Given the description of an element on the screen output the (x, y) to click on. 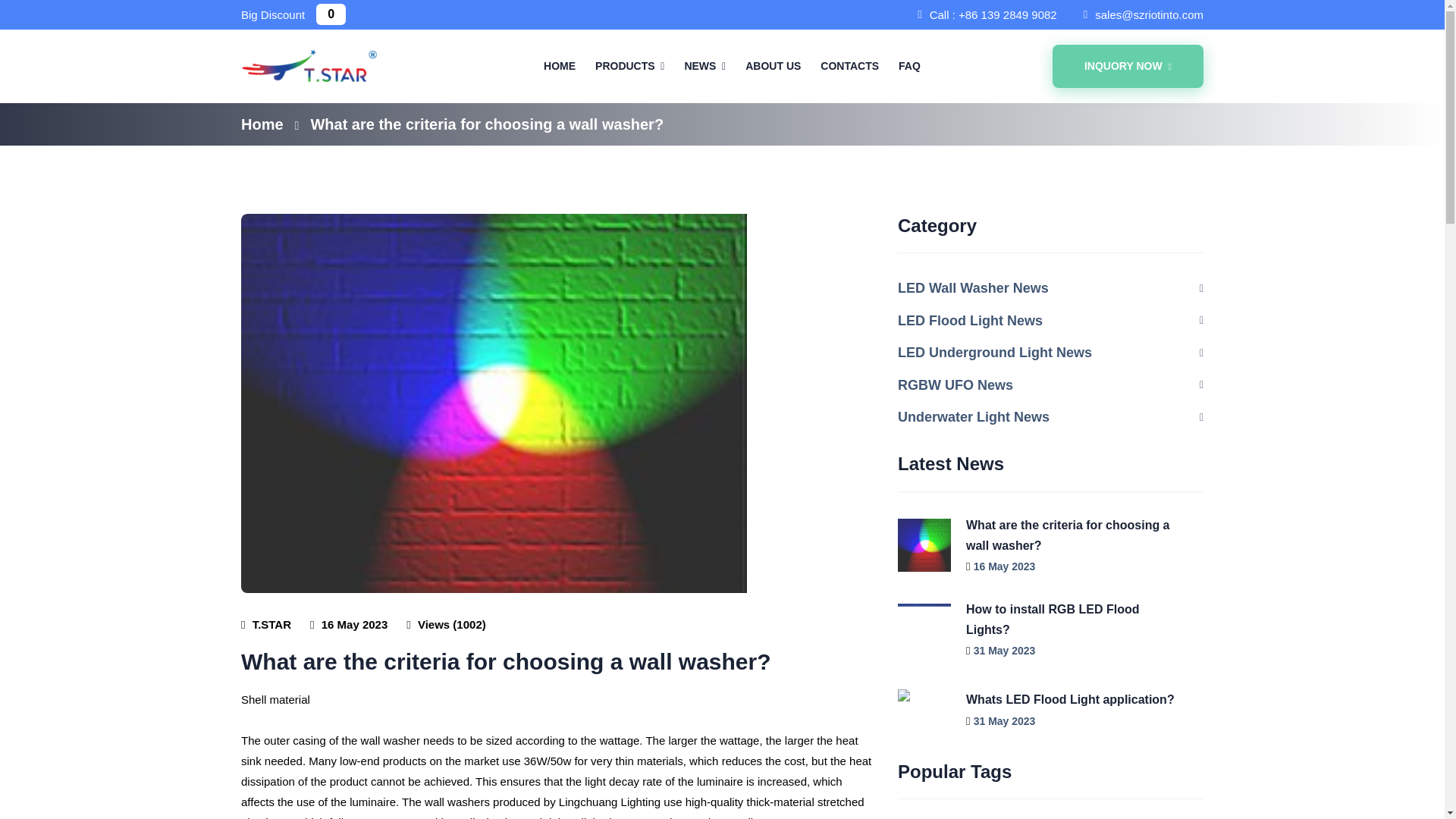
PRODUCTS (629, 65)
NEWS (705, 65)
HOME (558, 65)
FAQ (909, 65)
ABOUT US (772, 65)
CONTACTS (849, 65)
